Given the description of an element on the screen output the (x, y) to click on. 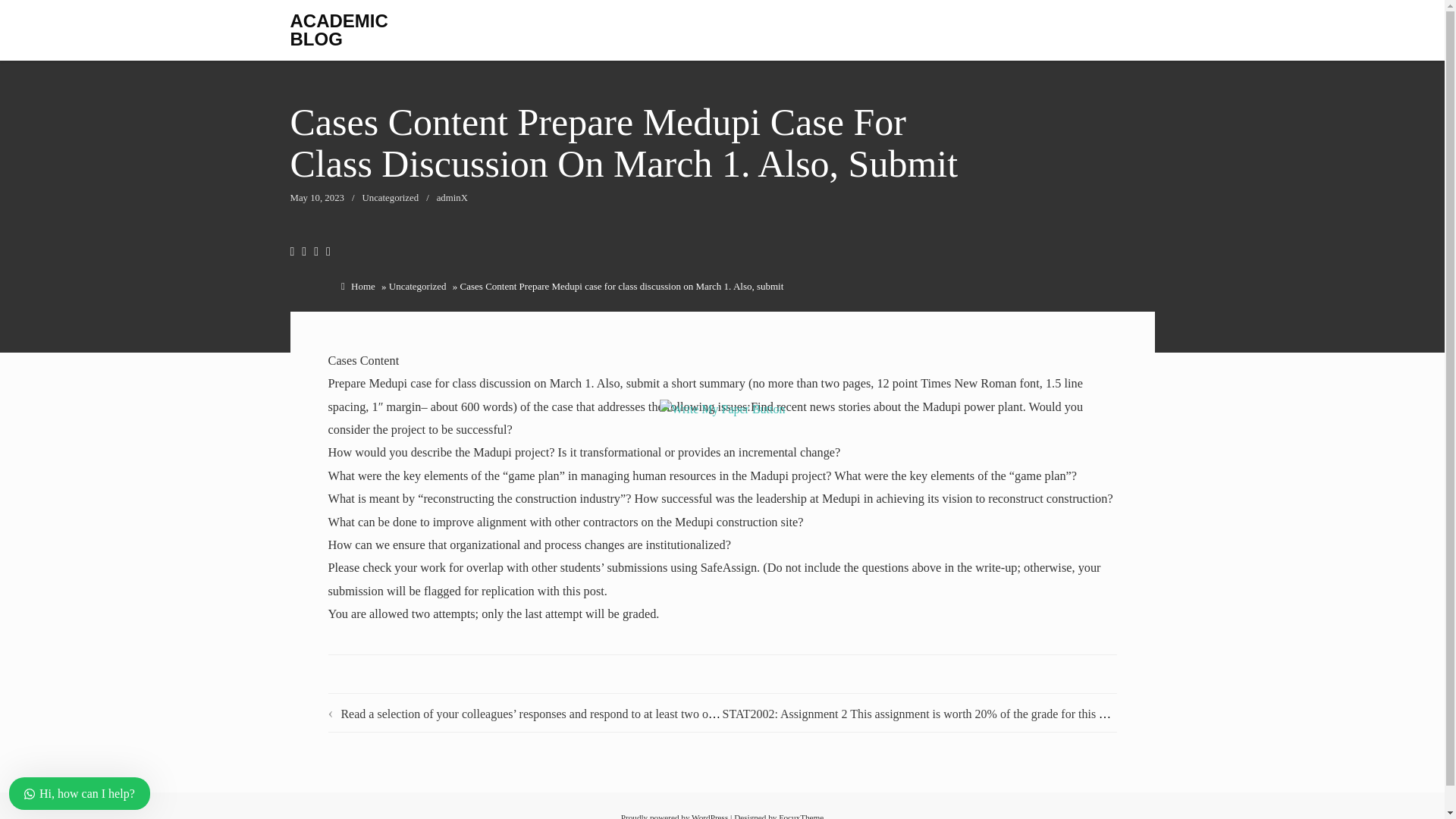
Uncategorized (417, 285)
We Design Premium WordPress Themes (801, 816)
Uncategorized (390, 197)
FocuxTheme (801, 816)
ACADEMIC BLOG (338, 29)
Posts by adminX (451, 197)
May 10, 2023 (316, 197)
WordPress (709, 816)
Home (362, 285)
adminX (451, 197)
